Given the description of an element on the screen output the (x, y) to click on. 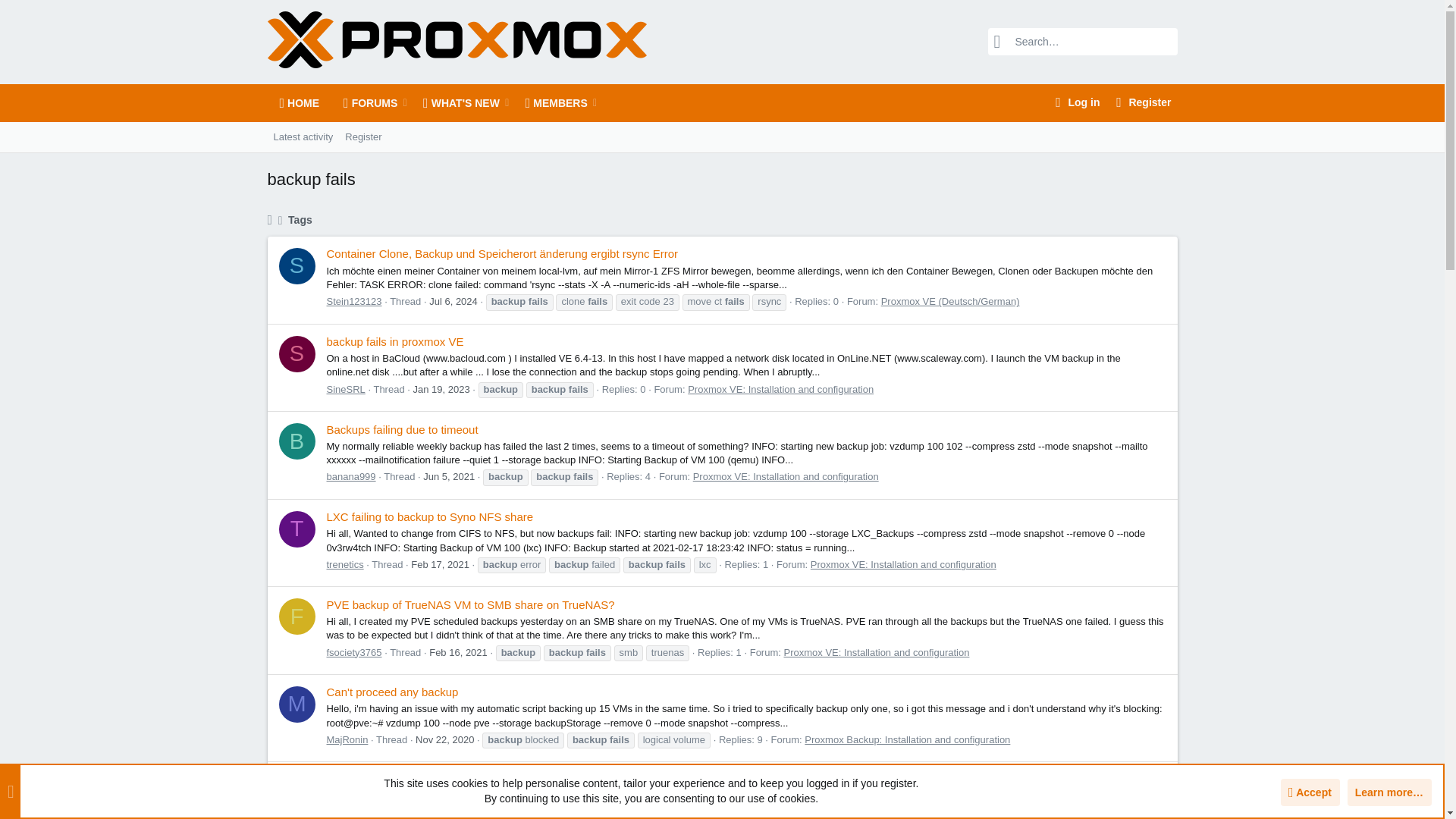
Register (432, 103)
HOME (326, 137)
Feb 16, 2021 at 11:35 (363, 136)
Jun 5, 2021 at 14:14 (298, 103)
WHAT'S NEW (458, 651)
Feb 17, 2021 at 18:26 (448, 476)
FORUMS (455, 103)
Register (439, 564)
